Given the description of an element on the screen output the (x, y) to click on. 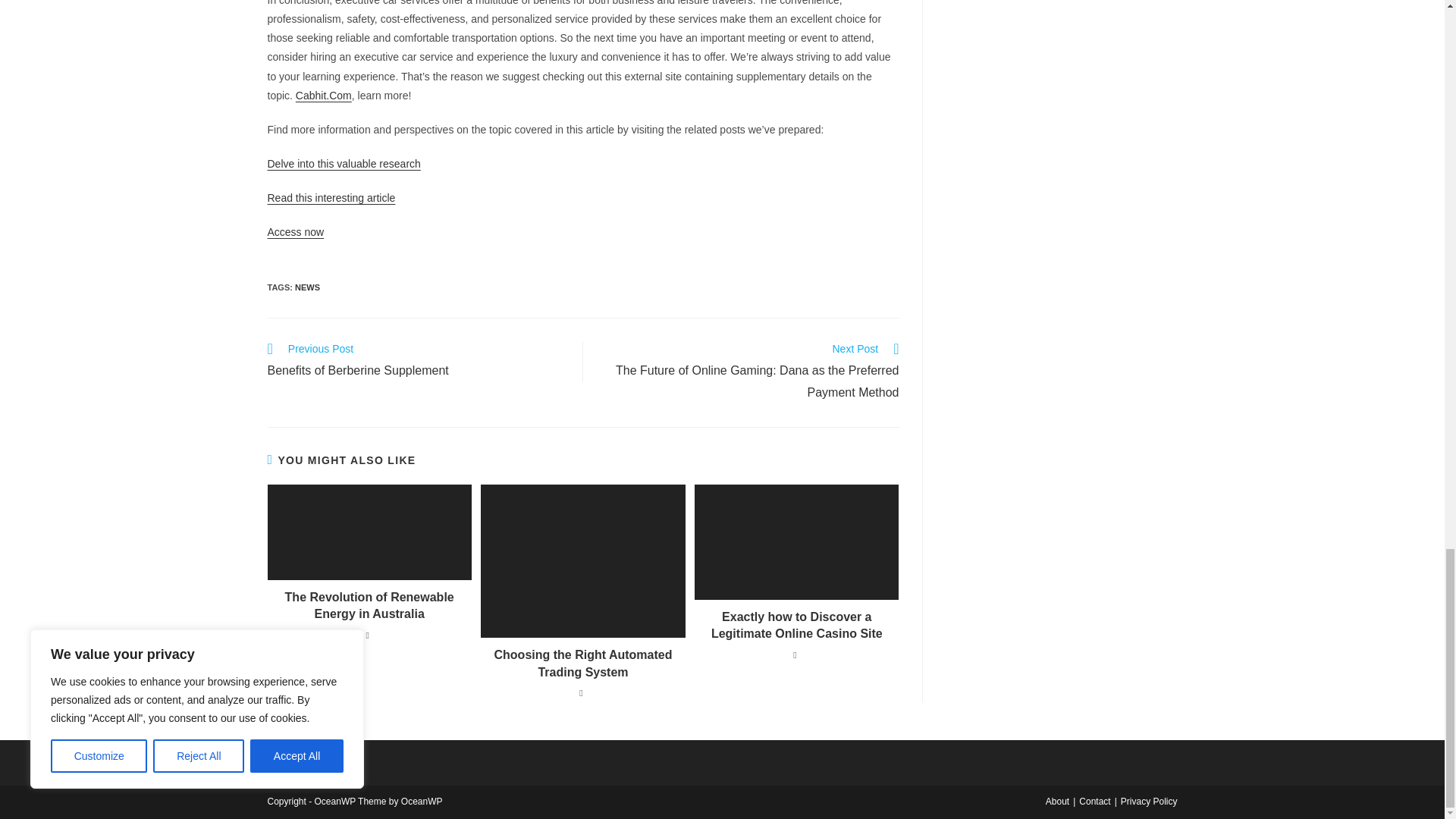
Delve into this valuable research (343, 163)
Access now (294, 232)
Read this interesting article (416, 361)
NEWS (330, 197)
Cabhit.Com (307, 286)
